Given the description of an element on the screen output the (x, y) to click on. 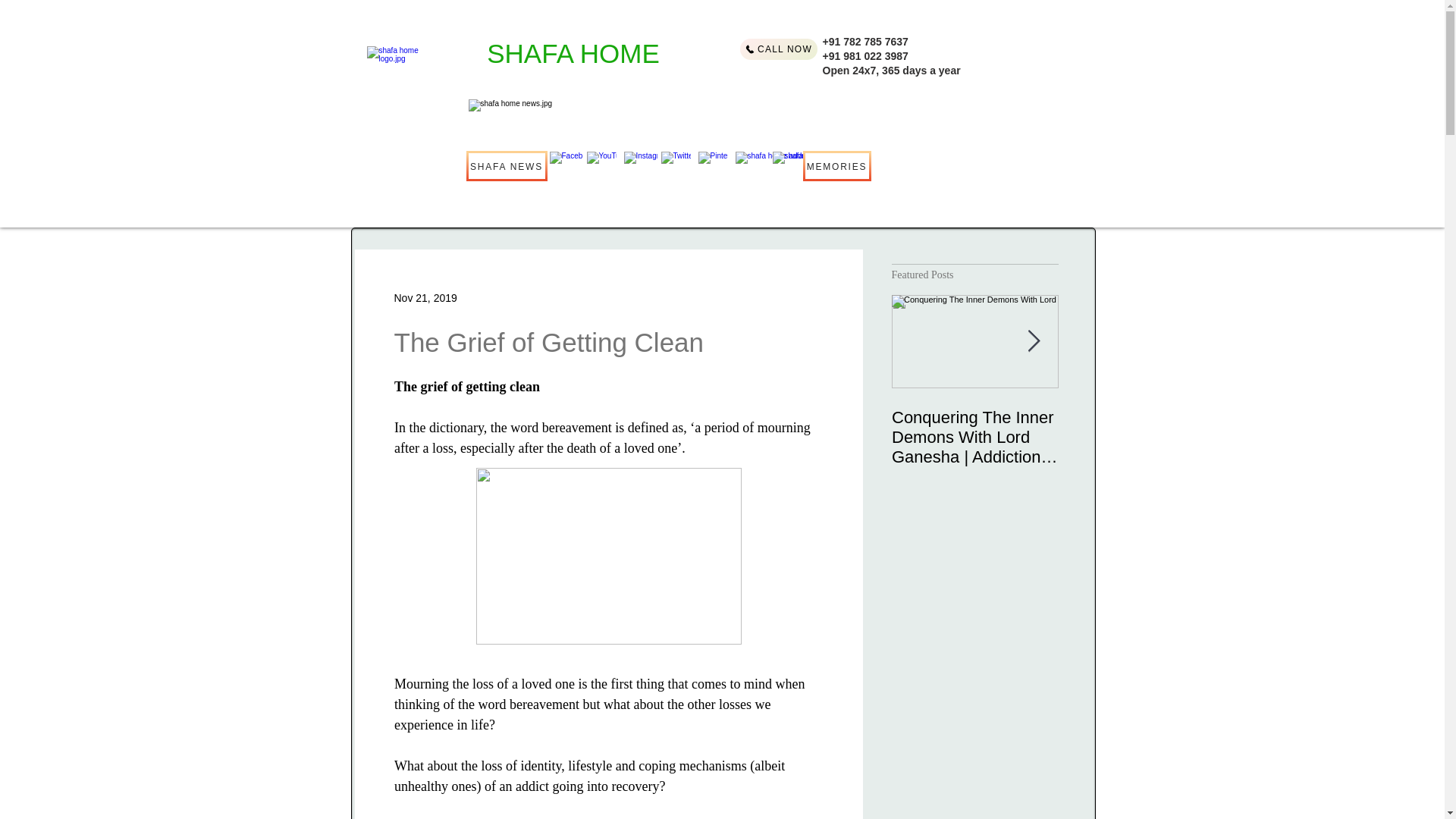
MEMORIES (836, 165)
Nov 21, 2019 (425, 297)
SHAFA NEWS (506, 165)
CALL NOW (777, 48)
  SHAFA HOME   (572, 53)
